Given the description of an element on the screen output the (x, y) to click on. 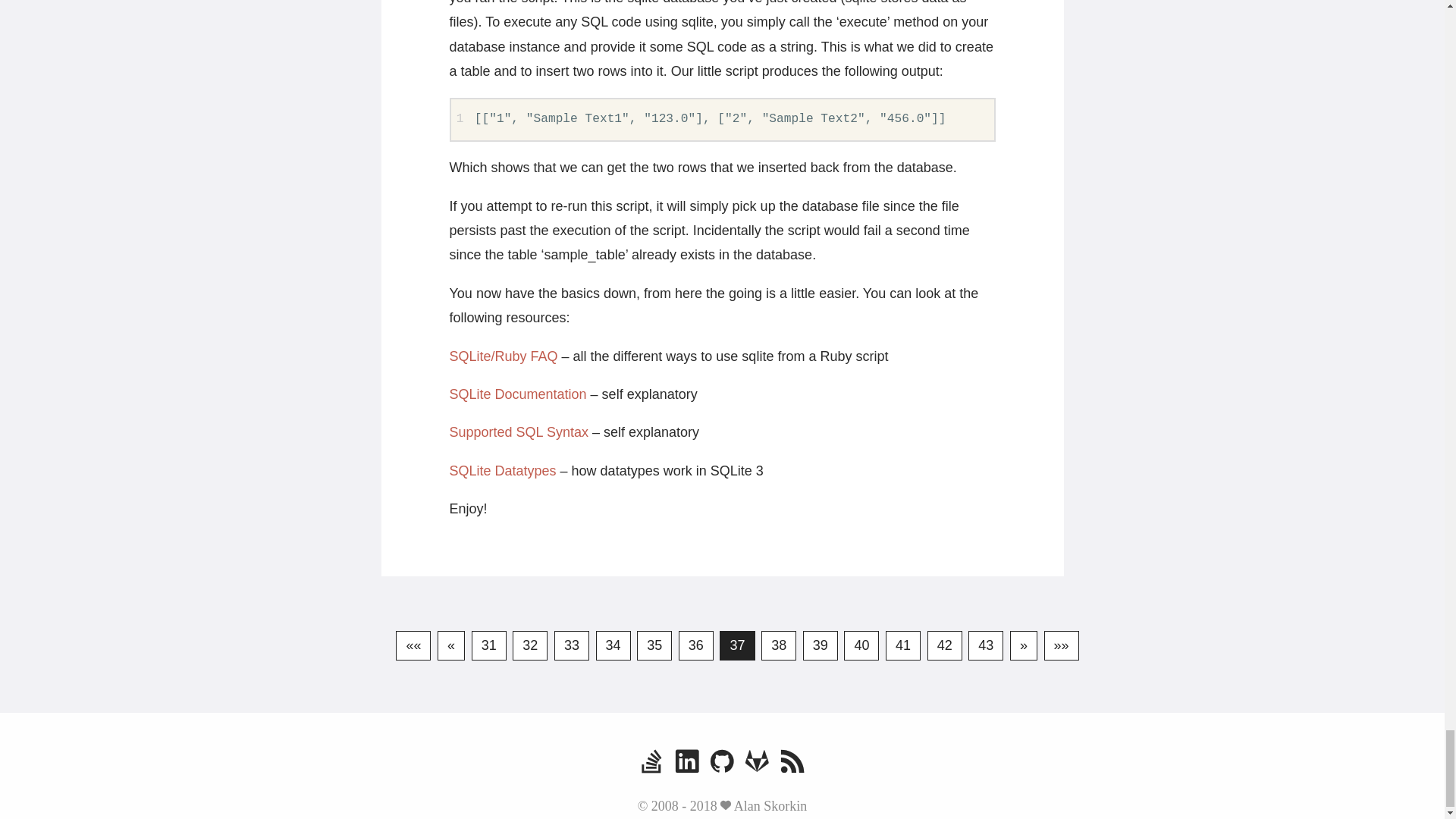
33 (571, 645)
31 (488, 645)
36 (695, 645)
37 (736, 645)
42 (944, 645)
43 (985, 645)
SQLite Datatypes (502, 470)
SQLite Documentation (517, 394)
SQLite Datatypes (502, 470)
35 (654, 645)
